Given the description of an element on the screen output the (x, y) to click on. 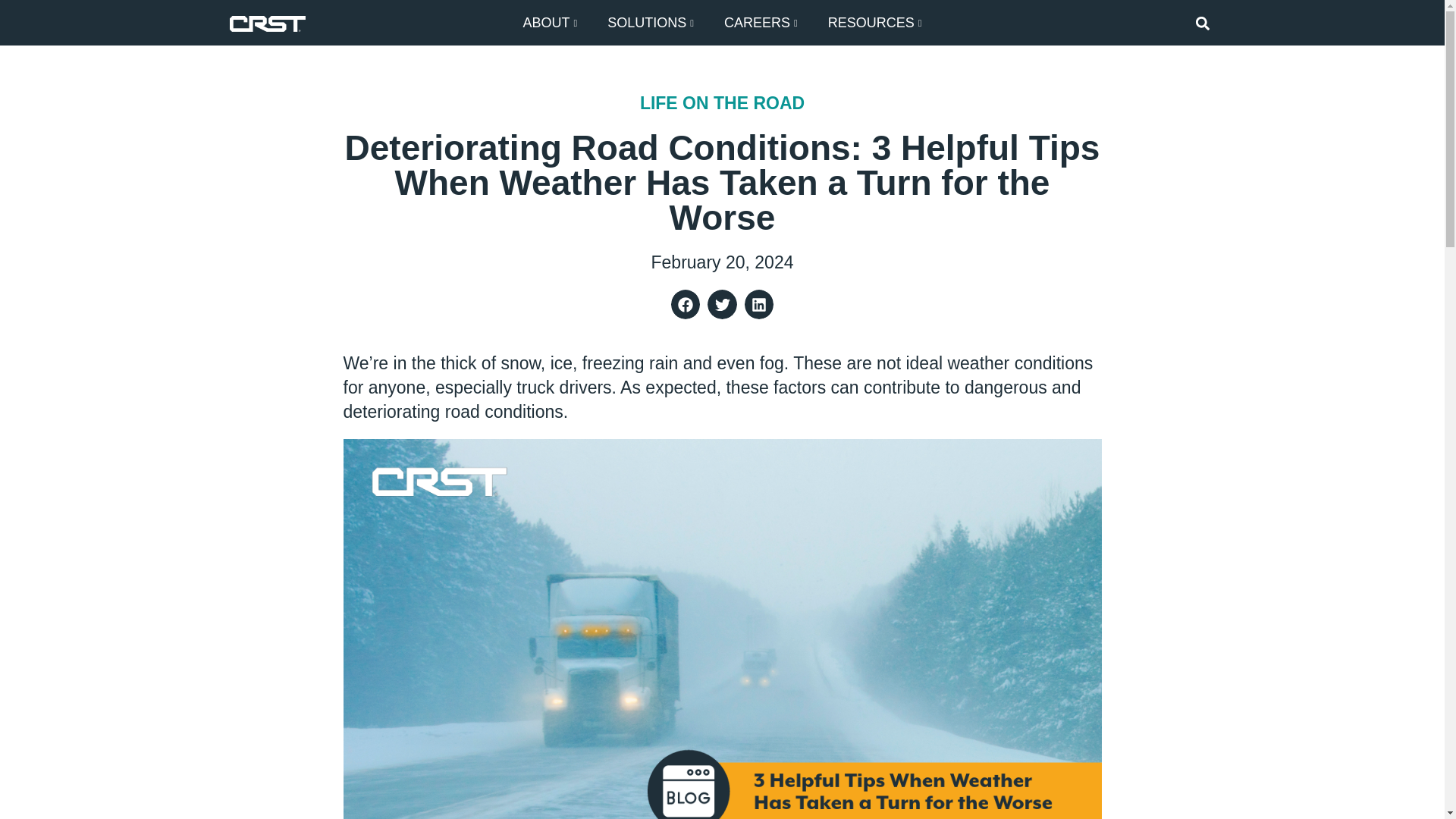
RESOURCES (874, 22)
ABOUT (549, 22)
SOLUTIONS (650, 22)
CAREERS (760, 22)
